Given the description of an element on the screen output the (x, y) to click on. 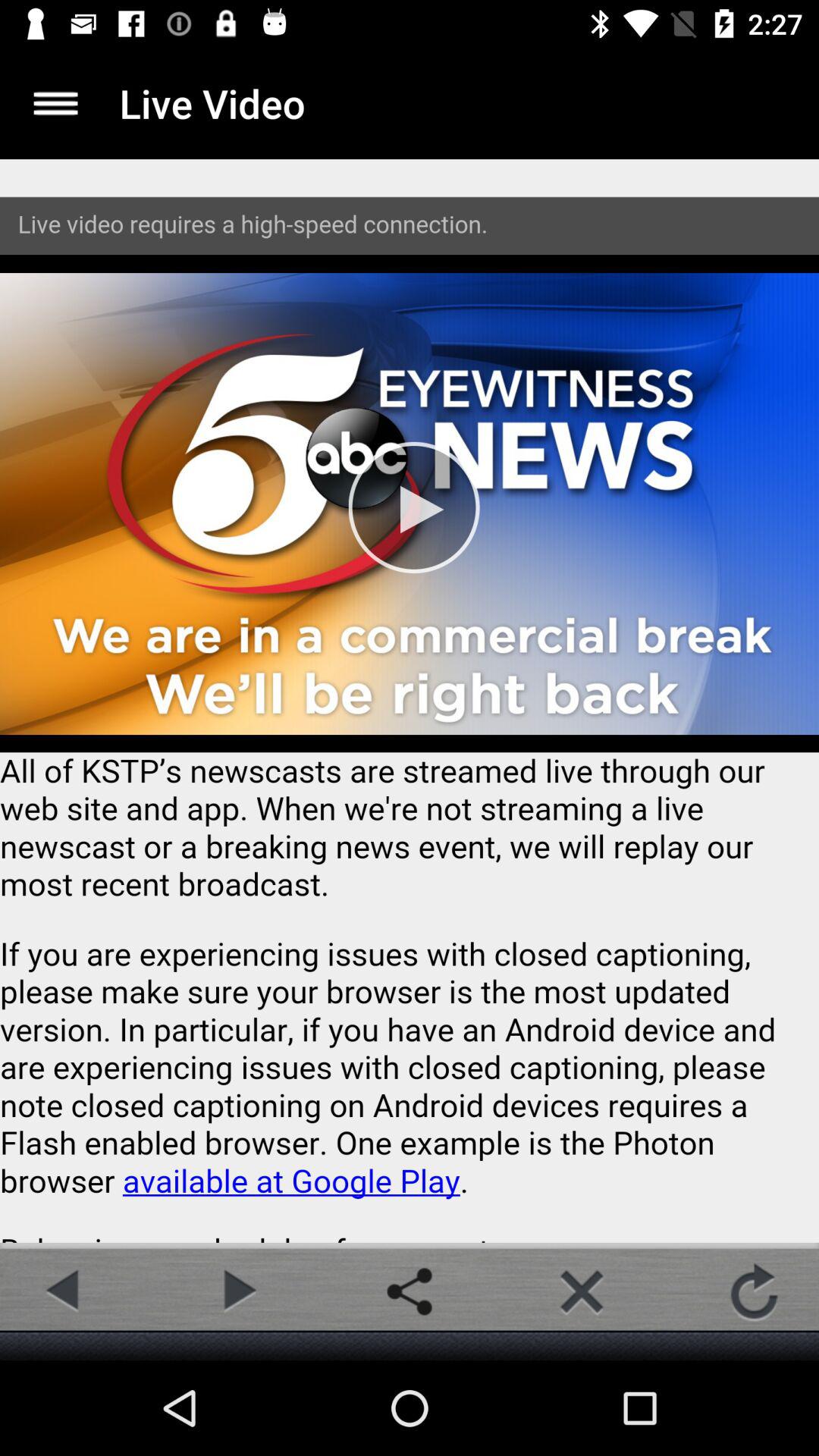
go to next (237, 1291)
